Given the description of an element on the screen output the (x, y) to click on. 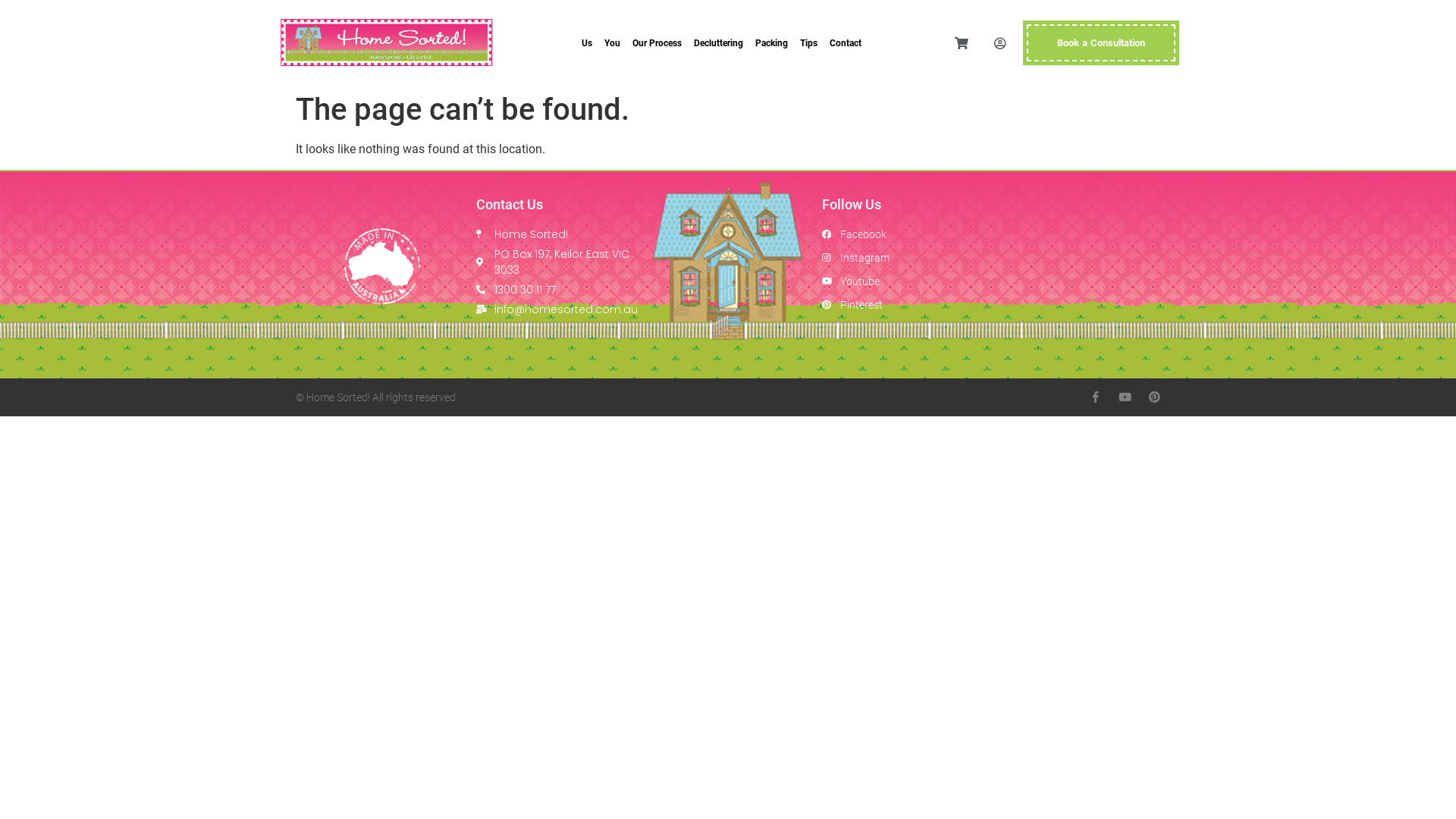
Instagram Element type: text (900, 258)
Youtube Element type: text (900, 281)
Book a Consultation Element type: text (1100, 43)
Us Element type: text (586, 42)
Tips Element type: text (808, 42)
Our Process Element type: text (656, 42)
Pinterest Element type: text (900, 305)
You Element type: text (612, 42)
Facebook Element type: text (900, 234)
Decluttering Element type: text (718, 42)
Packing Element type: text (771, 42)
Contact Element type: text (845, 42)
